Given the description of an element on the screen output the (x, y) to click on. 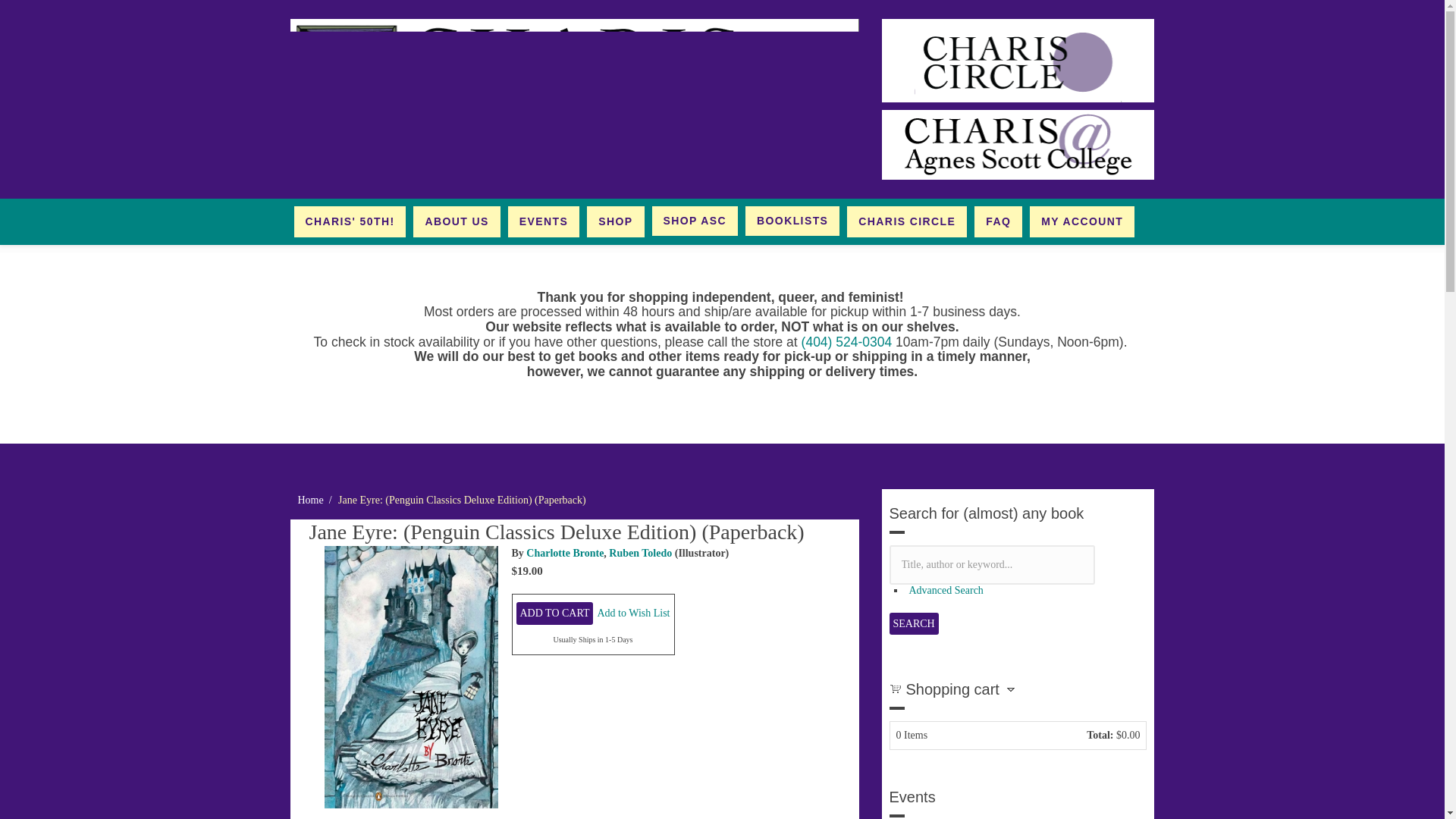
Title, author or keyword... (991, 564)
SHOP ASC (695, 220)
Add to Cart (553, 612)
BOOKLISTS (792, 220)
search (912, 623)
